Given the description of an element on the screen output the (x, y) to click on. 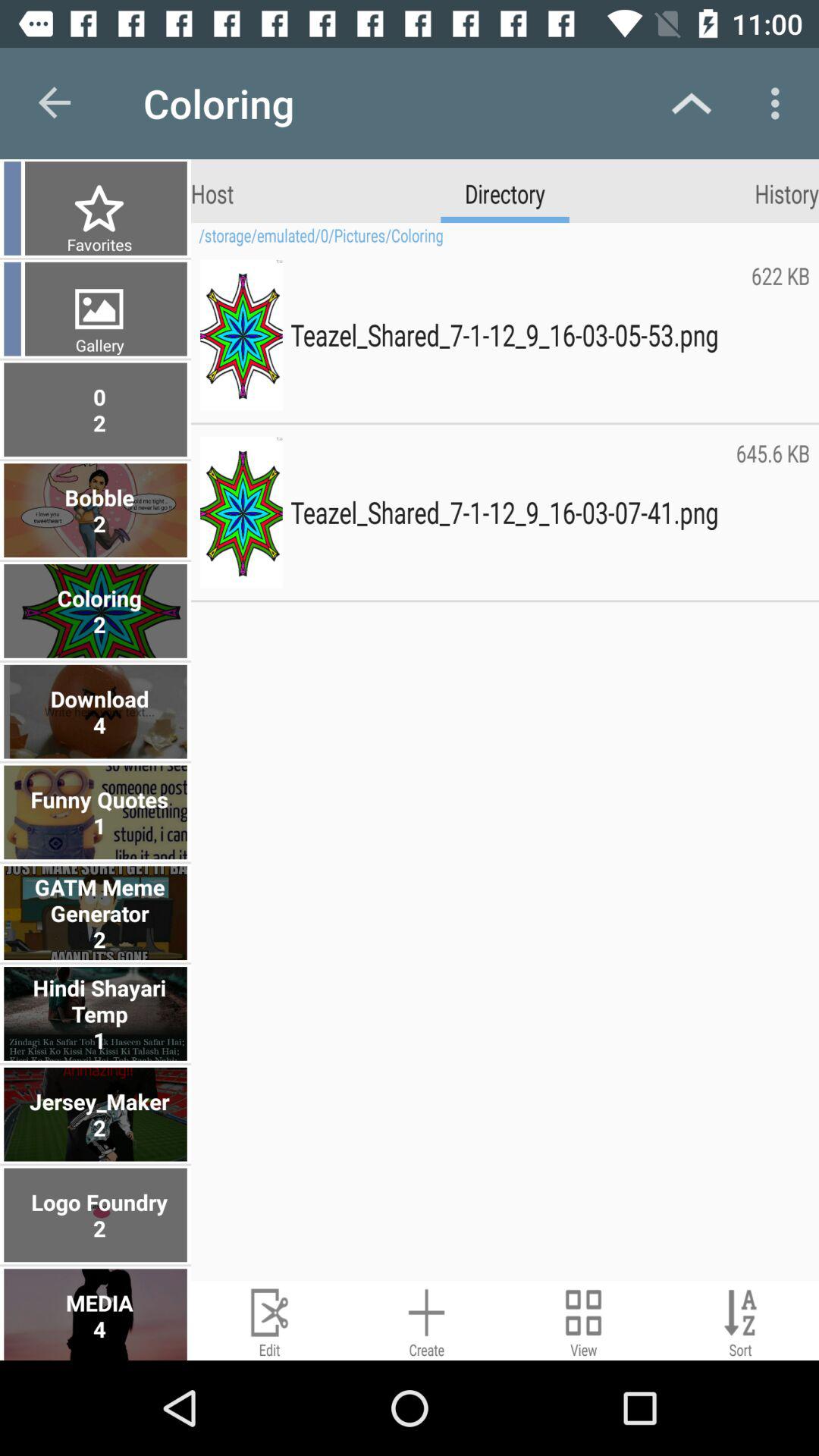
swipe until the download
4 icon (97, 711)
